Given the description of an element on the screen output the (x, y) to click on. 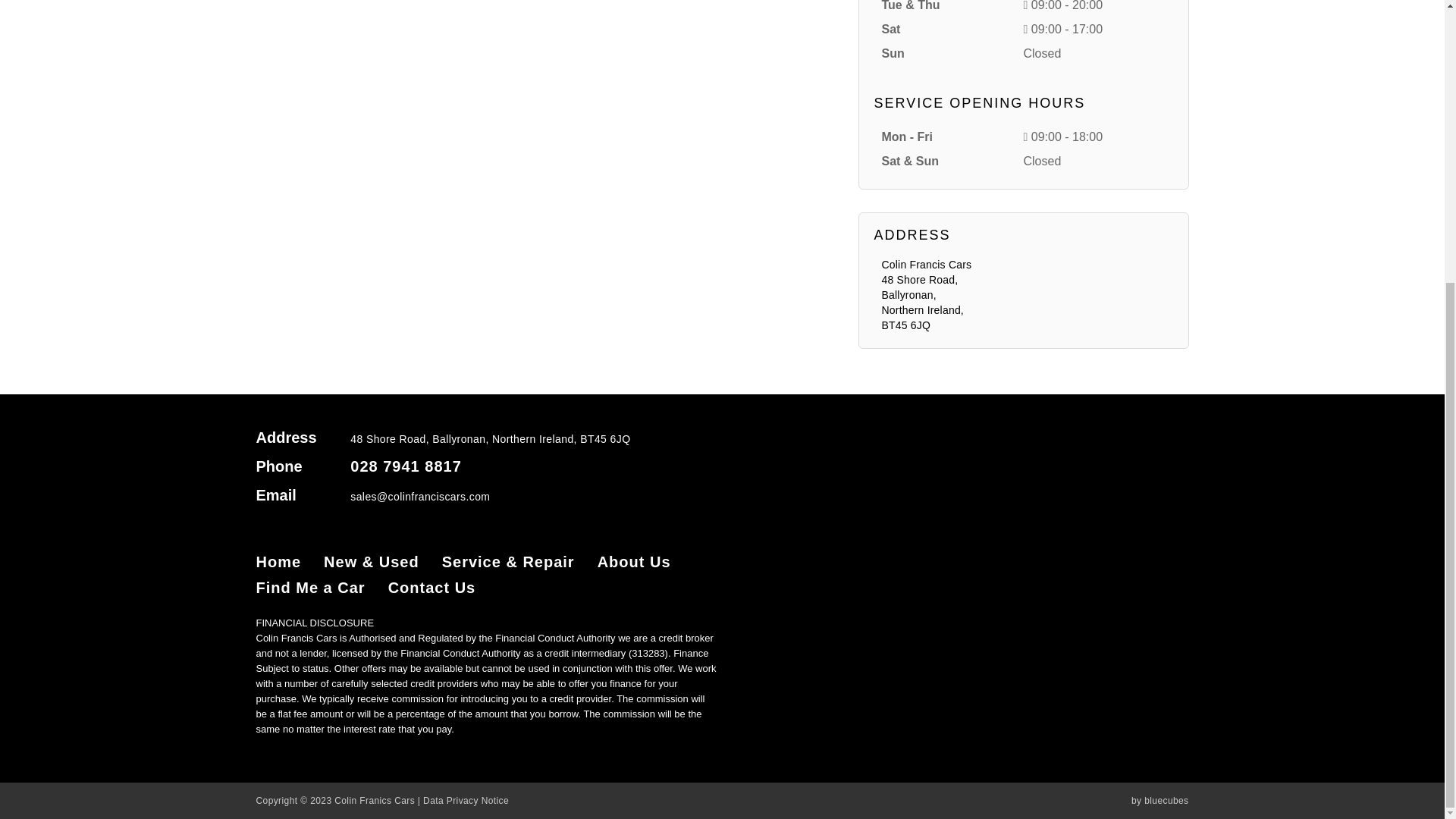
Contact Us (432, 587)
bluecubes (1166, 800)
Home (278, 561)
Find Me a Car (310, 587)
028 7941 8817 (405, 466)
About Us (633, 561)
Data Privacy Notice (465, 800)
